Given the description of an element on the screen output the (x, y) to click on. 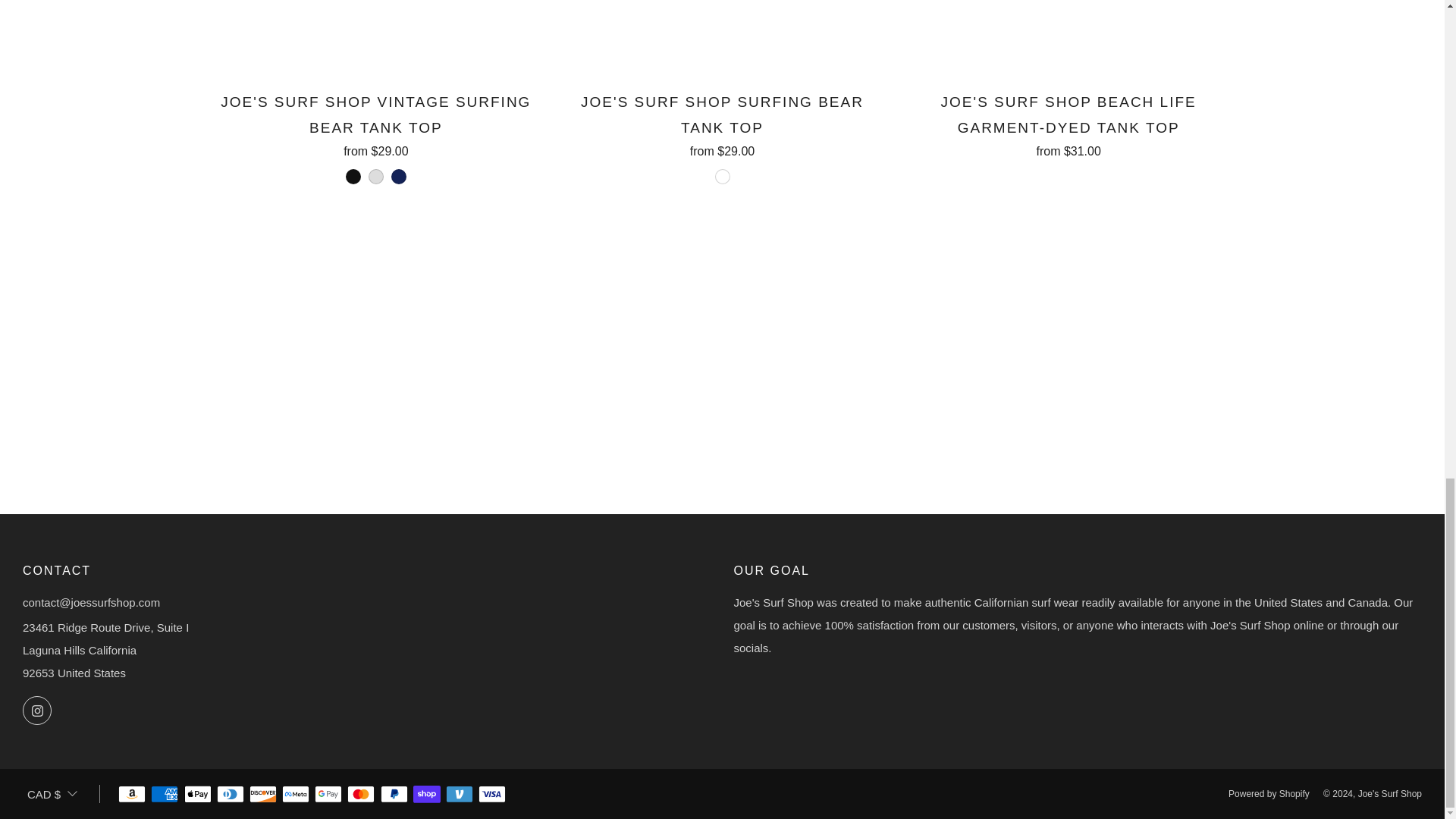
Joe's Surf Shop Beach Life Garment-Dyed Tank Top (1068, 123)
Joe's Surf Shop Vintage Surfing Bear Tank Top (376, 137)
Joe's Surf Shop Surfing Bear Tank Top (721, 137)
